Given the description of an element on the screen output the (x, y) to click on. 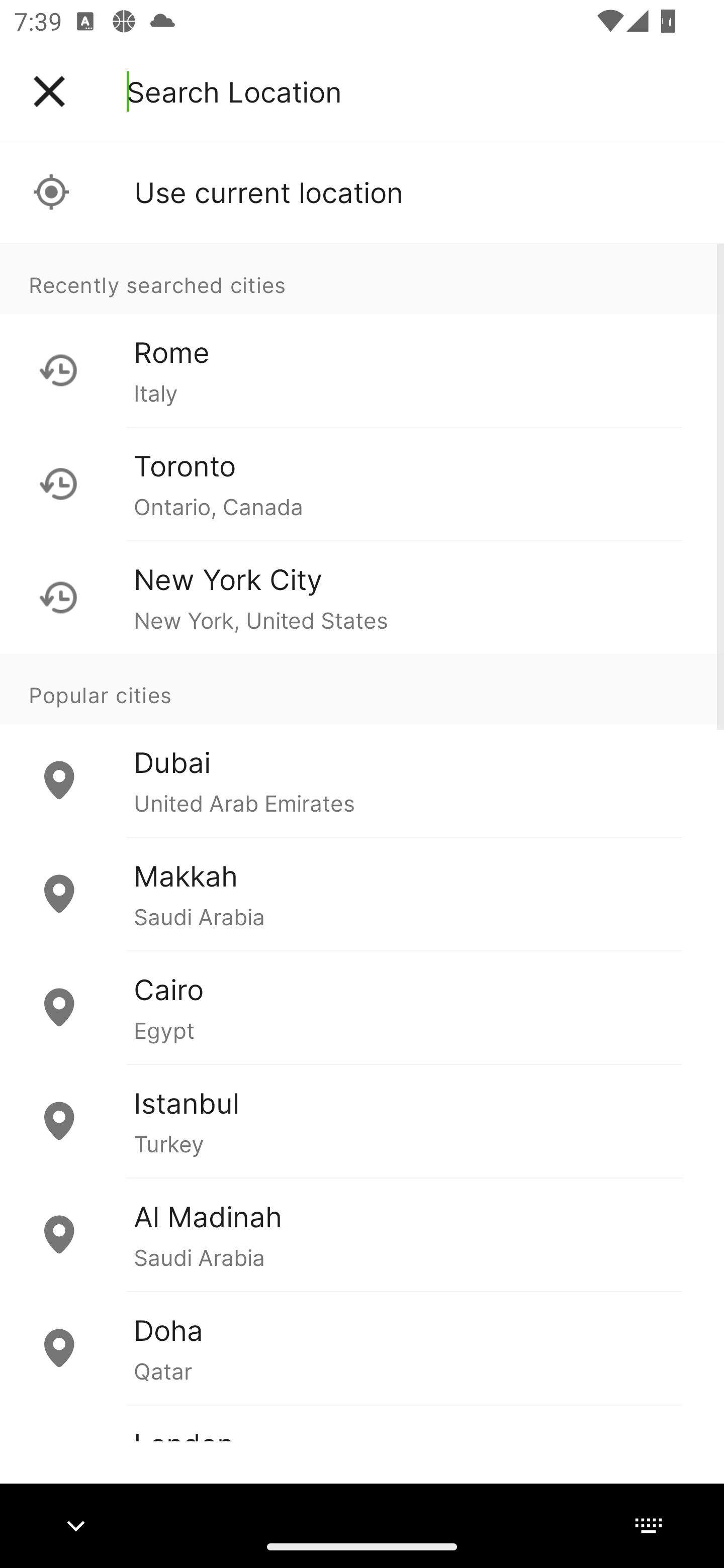
Search Location (234, 91)
Use current location (362, 192)
Recently searched cities Rome Italy (362, 334)
Recently searched cities (362, 278)
Toronto Ontario, Canada (362, 483)
New York City New York, United States (362, 596)
Popular cities Dubai United Arab Emirates (362, 745)
Popular cities (362, 688)
Makkah Saudi Arabia (362, 893)
Cairo Egypt (362, 1007)
Istanbul Turkey (362, 1120)
Al Madinah Saudi Arabia (362, 1233)
Doha Qatar (362, 1347)
